Given the description of an element on the screen output the (x, y) to click on. 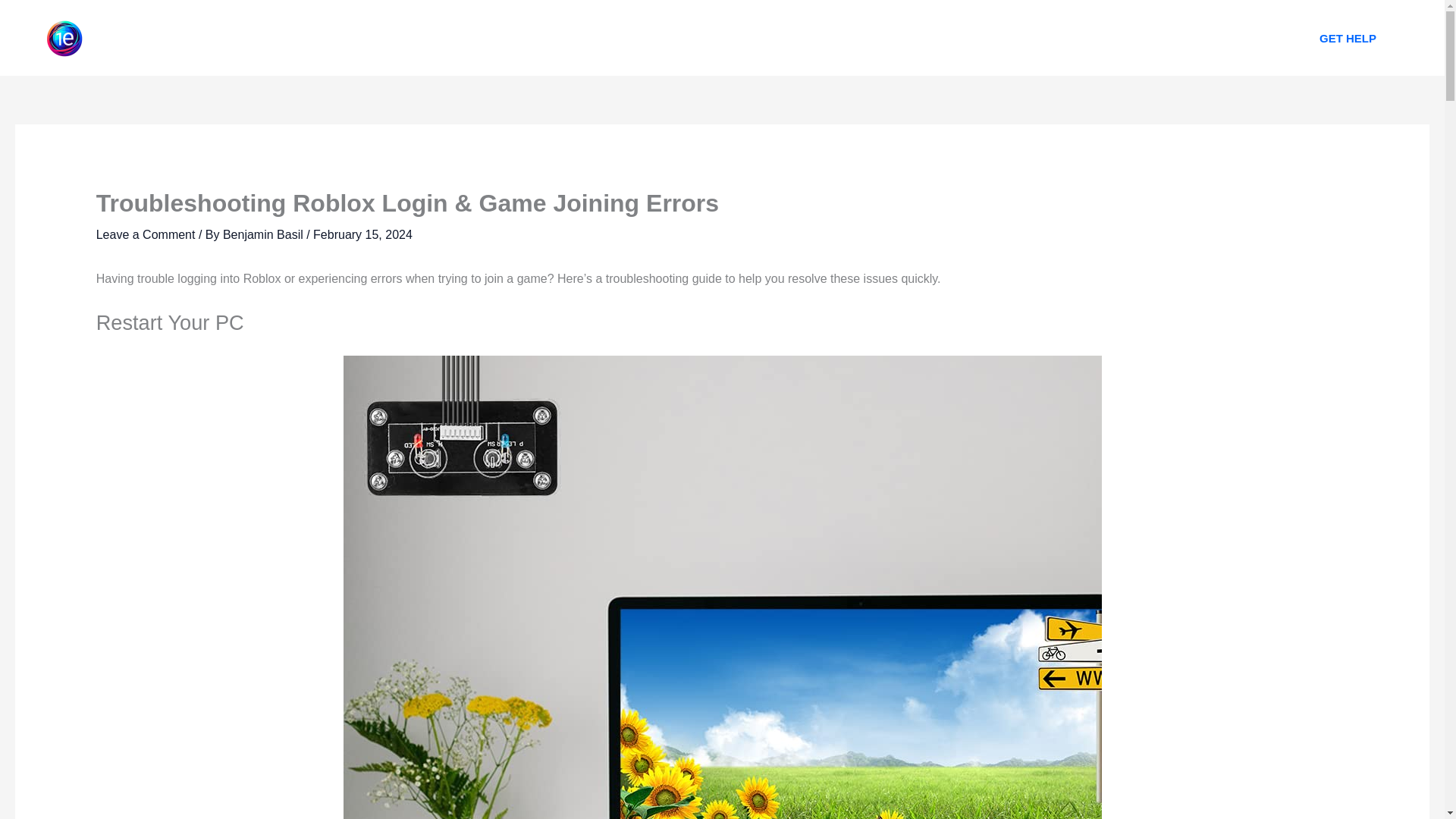
CONTACT (841, 37)
View all posts by Benjamin Basil (263, 234)
Benjamin Basil (263, 234)
ABOUT (662, 37)
Leave a Comment (145, 234)
OFFERINGS (747, 37)
HOME (592, 37)
GET HELP (1348, 38)
